Given the description of an element on the screen output the (x, y) to click on. 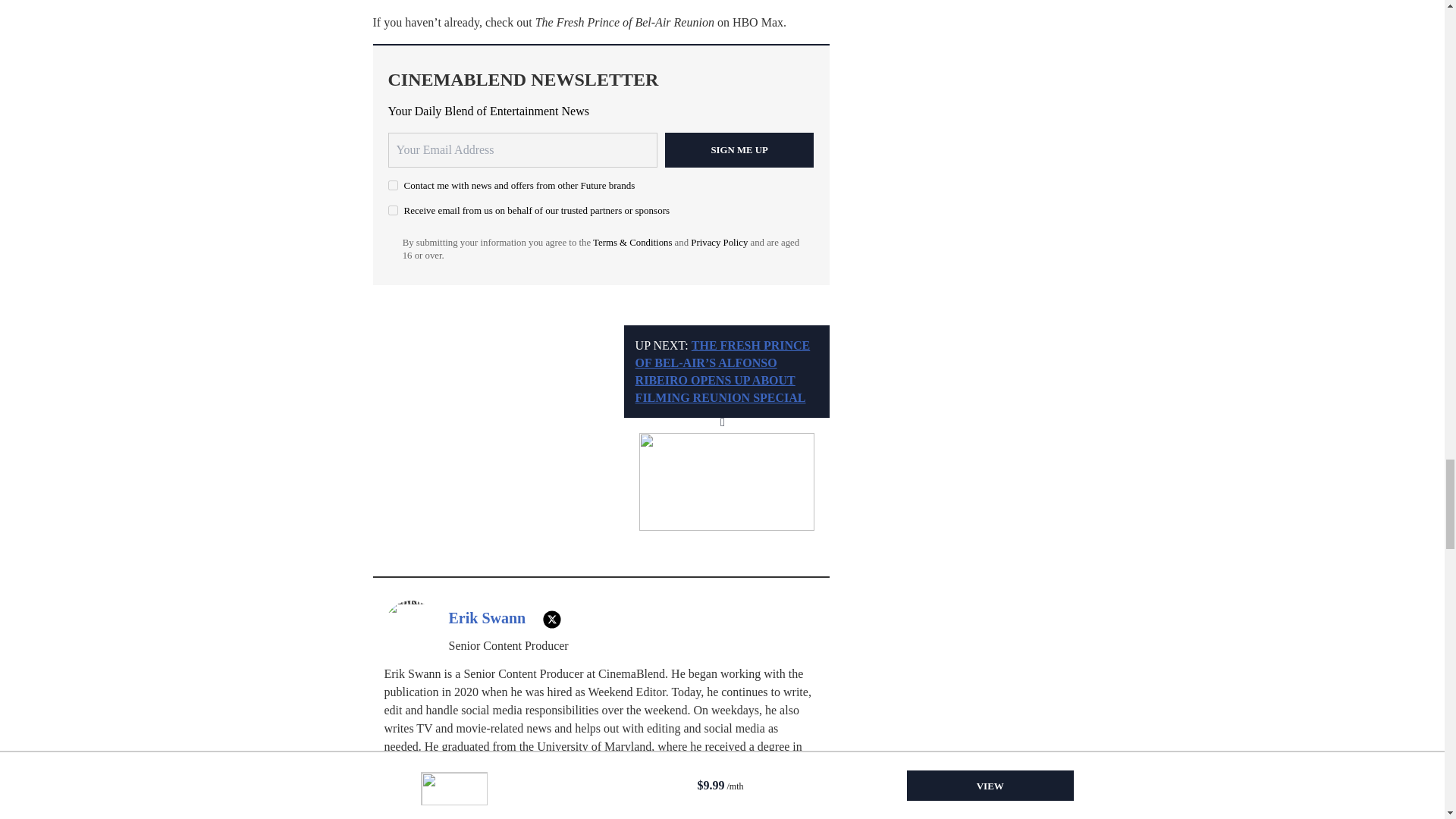
Sign me up (739, 149)
on (392, 185)
on (392, 210)
